Given the description of an element on the screen output the (x, y) to click on. 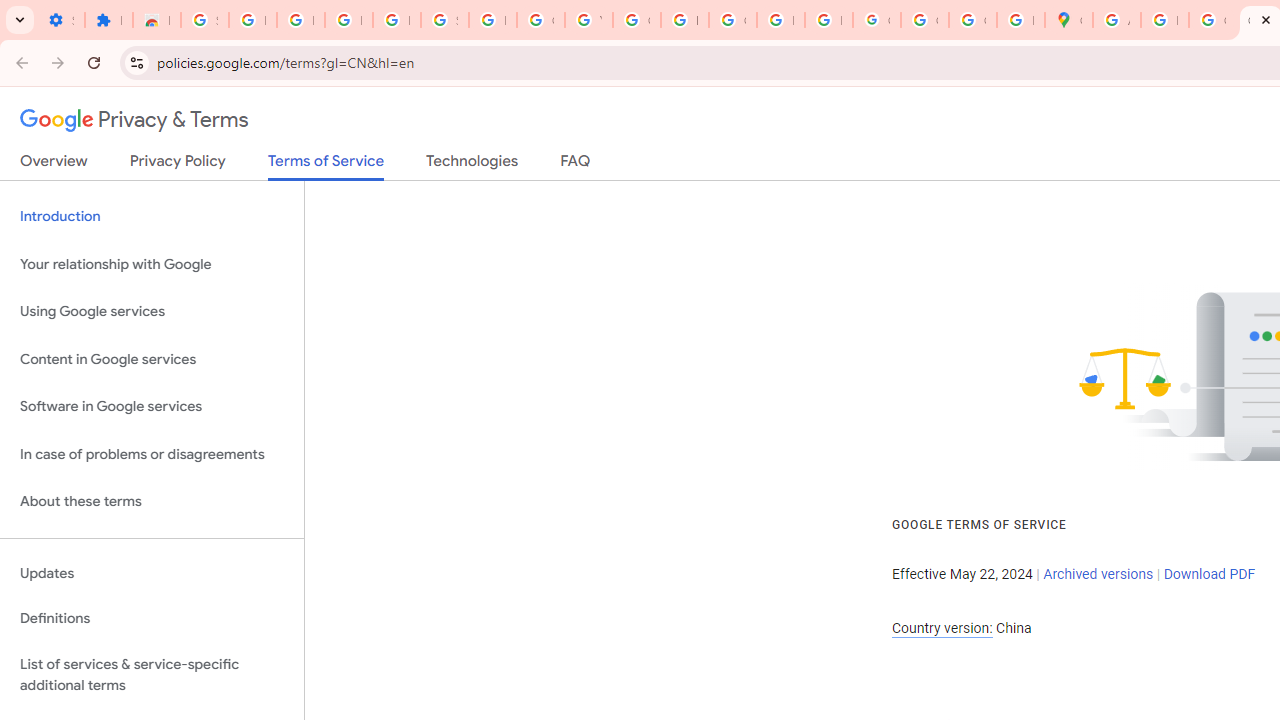
Using Google services (152, 312)
Create your Google Account (1212, 20)
